Given the description of an element on the screen output the (x, y) to click on. 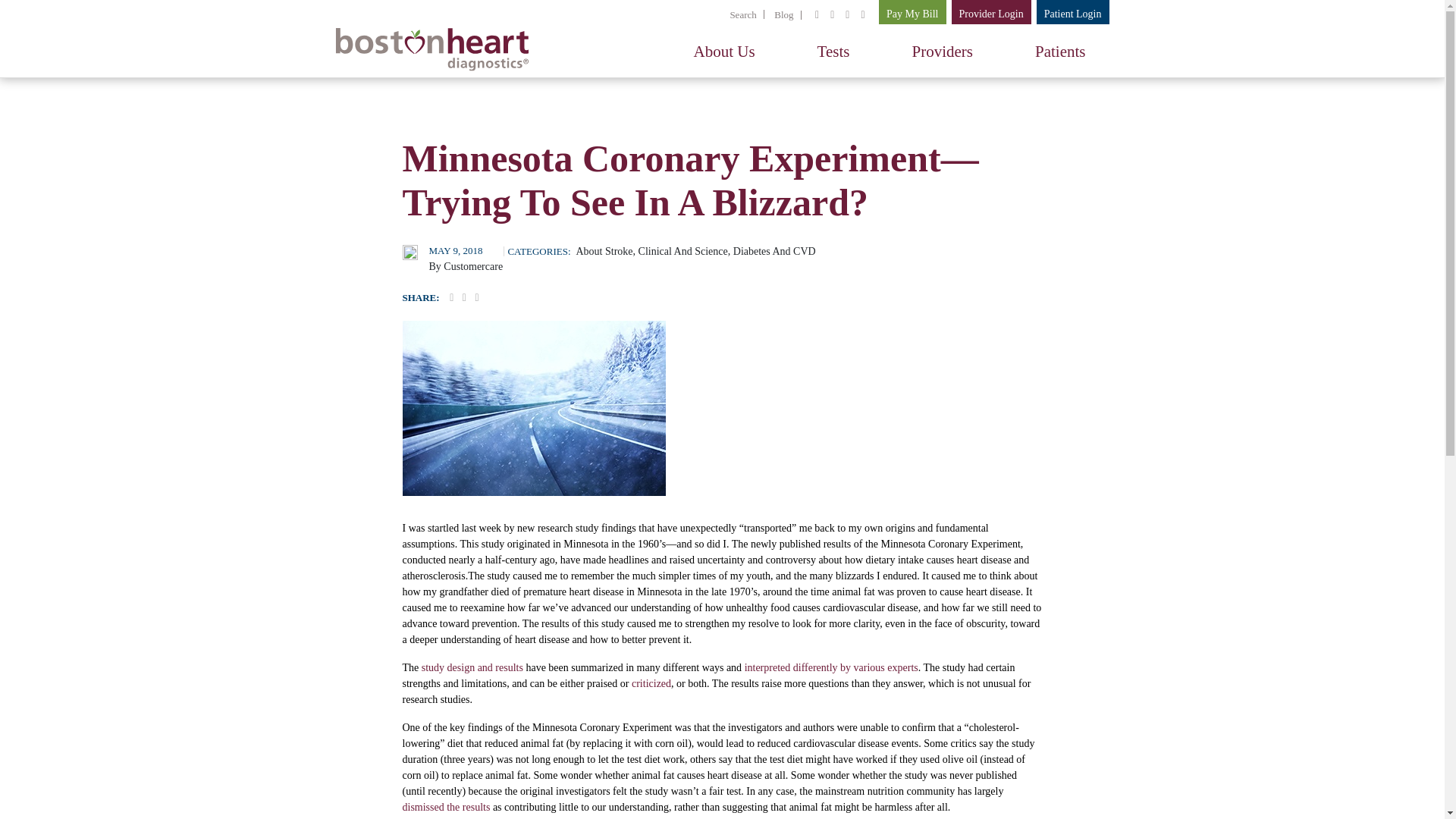
interpreted differently by various experts (831, 666)
Search (737, 15)
Providers (941, 51)
About Us (723, 51)
Diabetes And CVD (774, 251)
Provider Login (991, 12)
Patients (1060, 51)
dismissed the results (445, 806)
Clinical And Science (683, 251)
Patient Login (1072, 12)
Blog (783, 14)
study design and results (472, 666)
Search (737, 15)
About Stroke (604, 251)
